Given the description of an element on the screen output the (x, y) to click on. 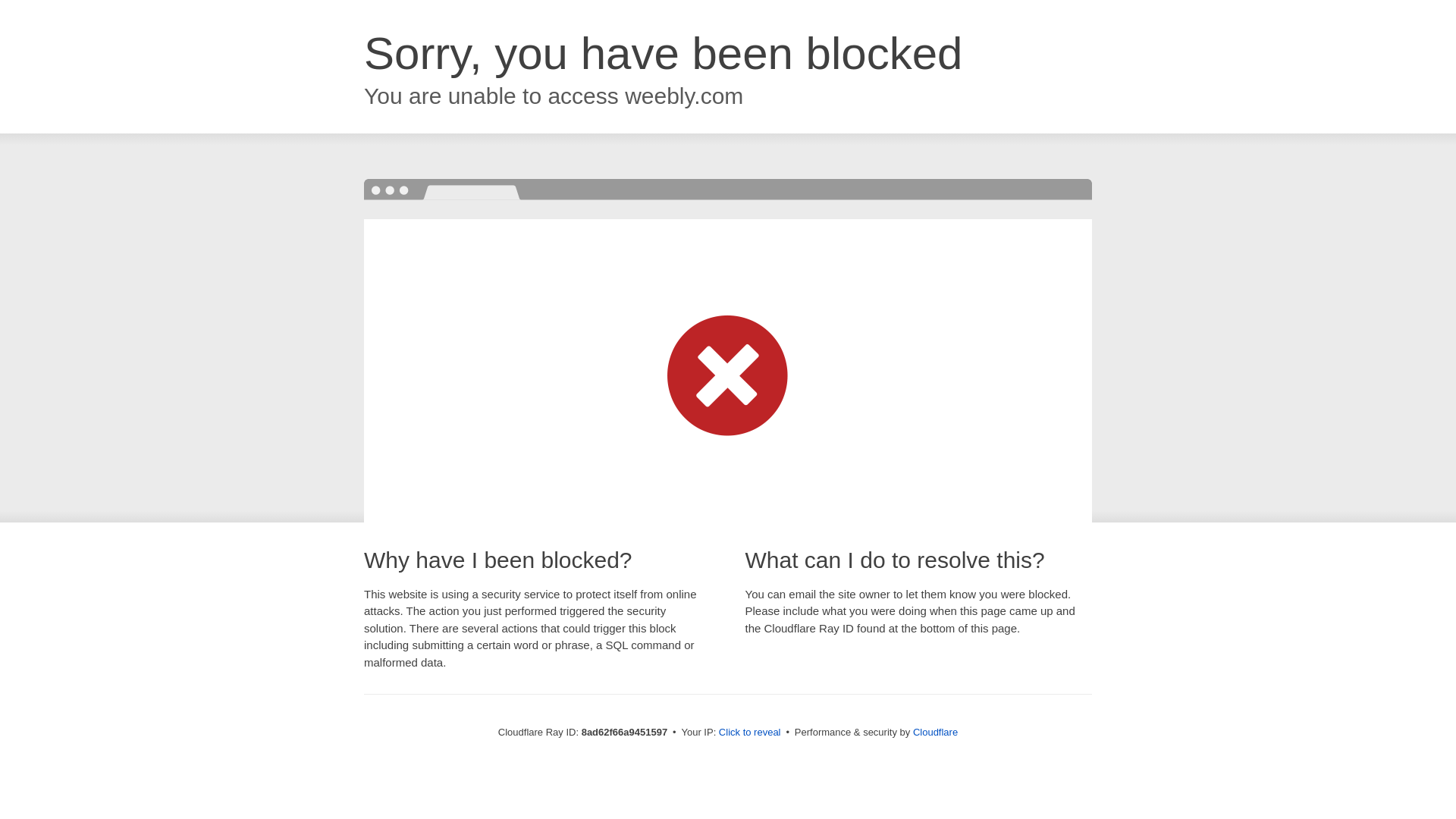
Cloudflare (935, 731)
Click to reveal (749, 732)
